Given the description of an element on the screen output the (x, y) to click on. 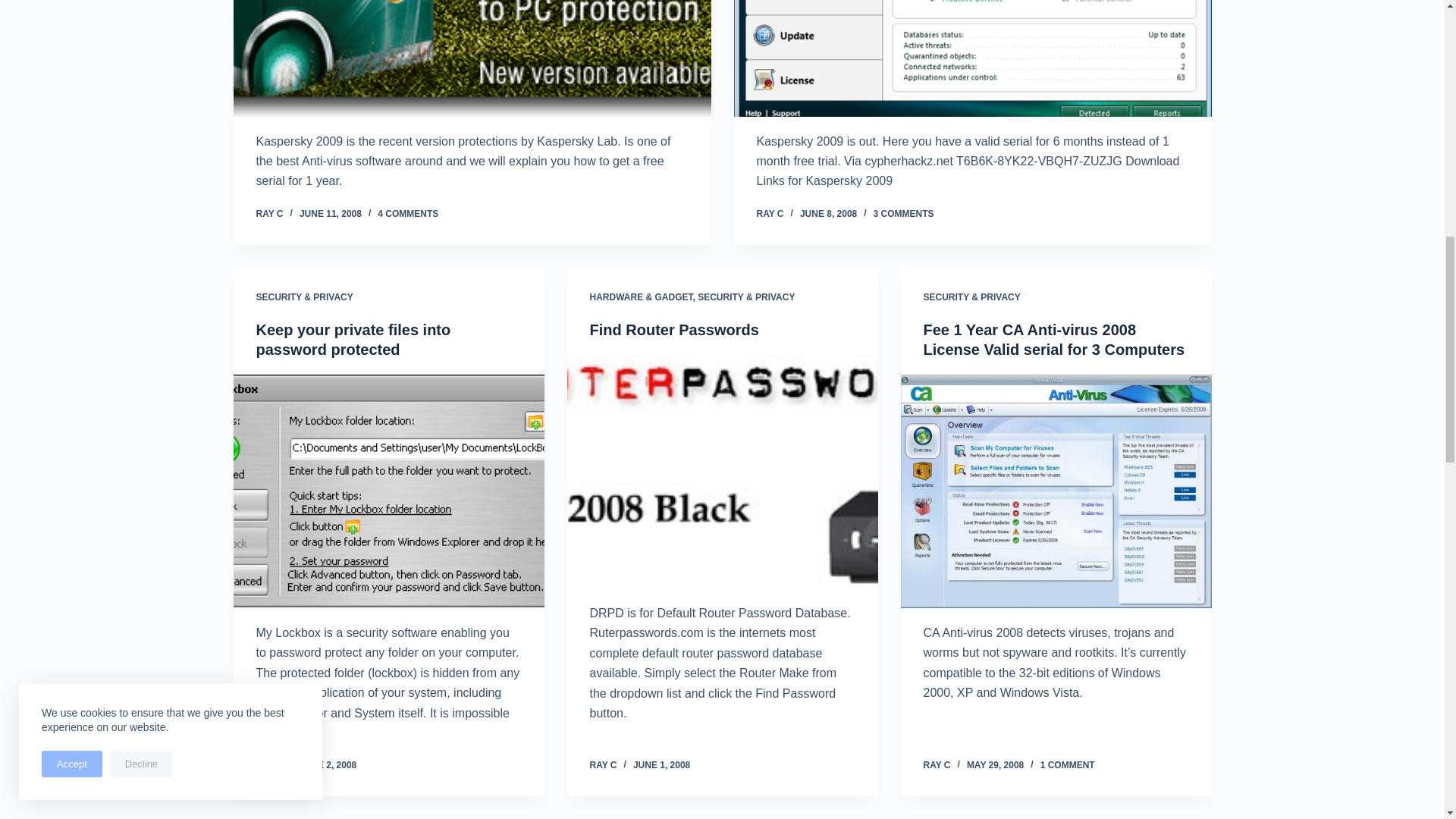
Posts by Ray C (603, 765)
Posts by Ray C (936, 765)
Posts by Ray C (770, 213)
Posts by Ray C (269, 765)
Posts by Ray C (269, 213)
